Given the description of an element on the screen output the (x, y) to click on. 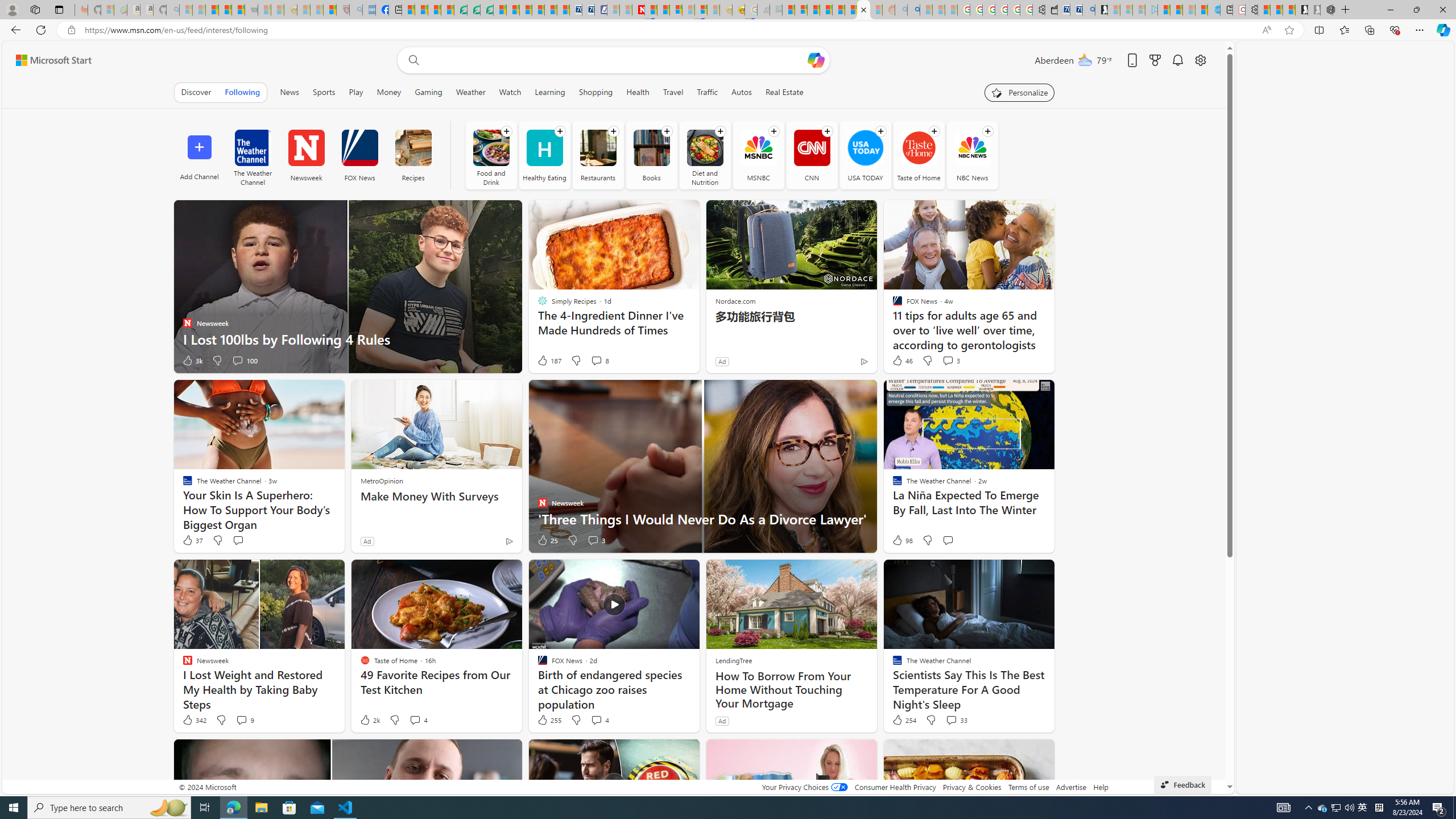
USA TODAY (865, 155)
Local - MSN (329, 9)
Shopping (596, 92)
Real Estate (784, 92)
Food and Drink (490, 155)
CNN (811, 155)
MetroOpinion (381, 479)
